Given the description of an element on the screen output the (x, y) to click on. 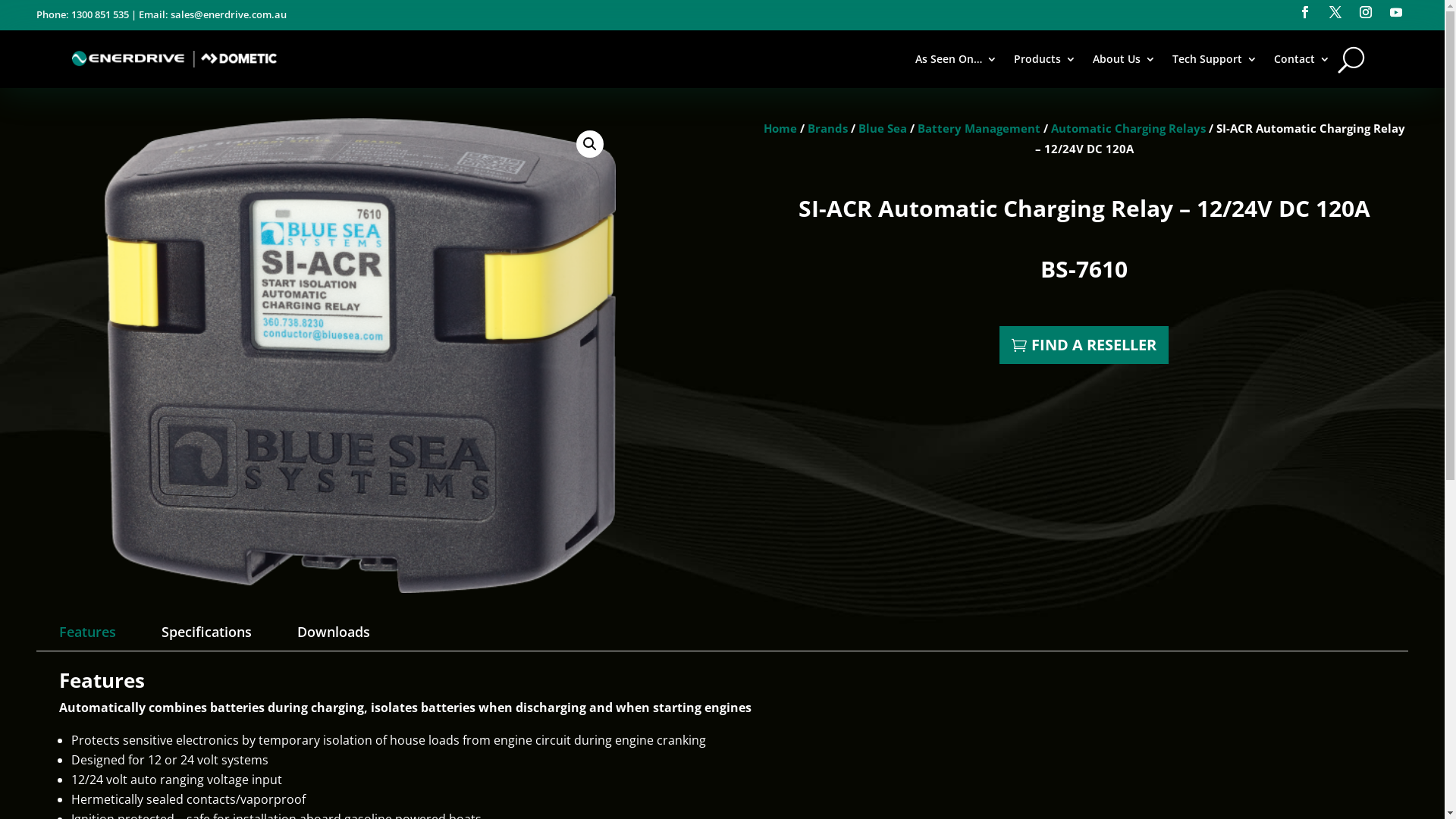
Follow on Youtube Element type: hover (1395, 12)
sales@enerdrive.com.au Element type: text (228, 14)
About Us Element type: text (1123, 58)
Follow on Facebook Element type: hover (1304, 12)
Products Element type: text (1044, 58)
FIND A RESELLER Element type: text (1083, 345)
Features Element type: text (87, 631)
Follow on X Element type: hover (1335, 12)
Battery Management Element type: text (978, 127)
Brands Element type: text (827, 127)
Follow on Instagram Element type: hover (1365, 12)
Specifications Element type: text (206, 631)
Tech Support Element type: text (1214, 58)
Downloads Element type: text (333, 631)
1300 851 535 Element type: text (99, 14)
Contact Element type: text (1302, 58)
BS-7610B Element type: hover (359, 355)
Home Element type: text (780, 127)
Automatic Charging Relays Element type: text (1128, 127)
Blue Sea Element type: text (882, 127)
